Given the description of an element on the screen output the (x, y) to click on. 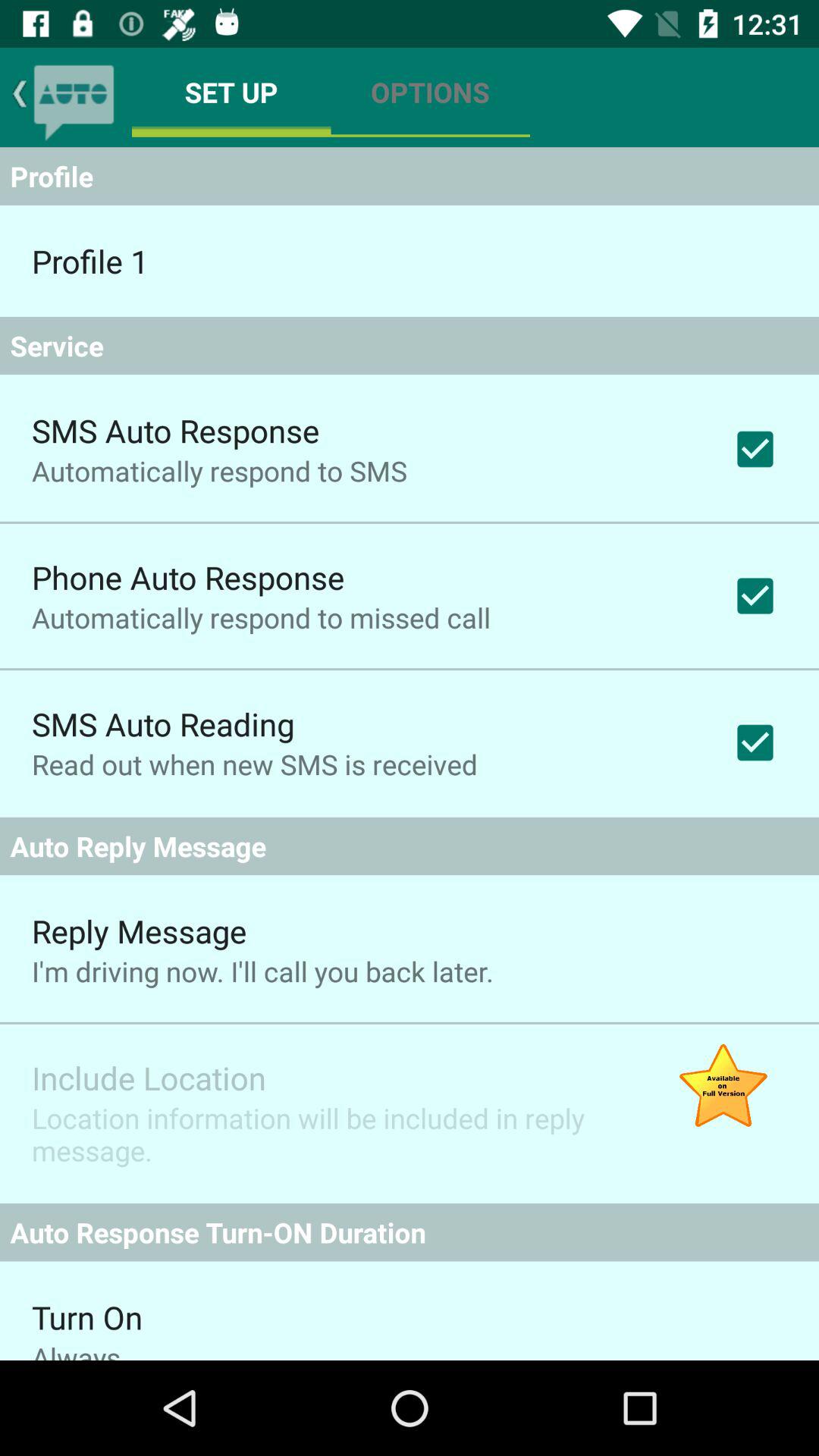
launch the item below the auto reply message app (723, 1087)
